Given the description of an element on the screen output the (x, y) to click on. 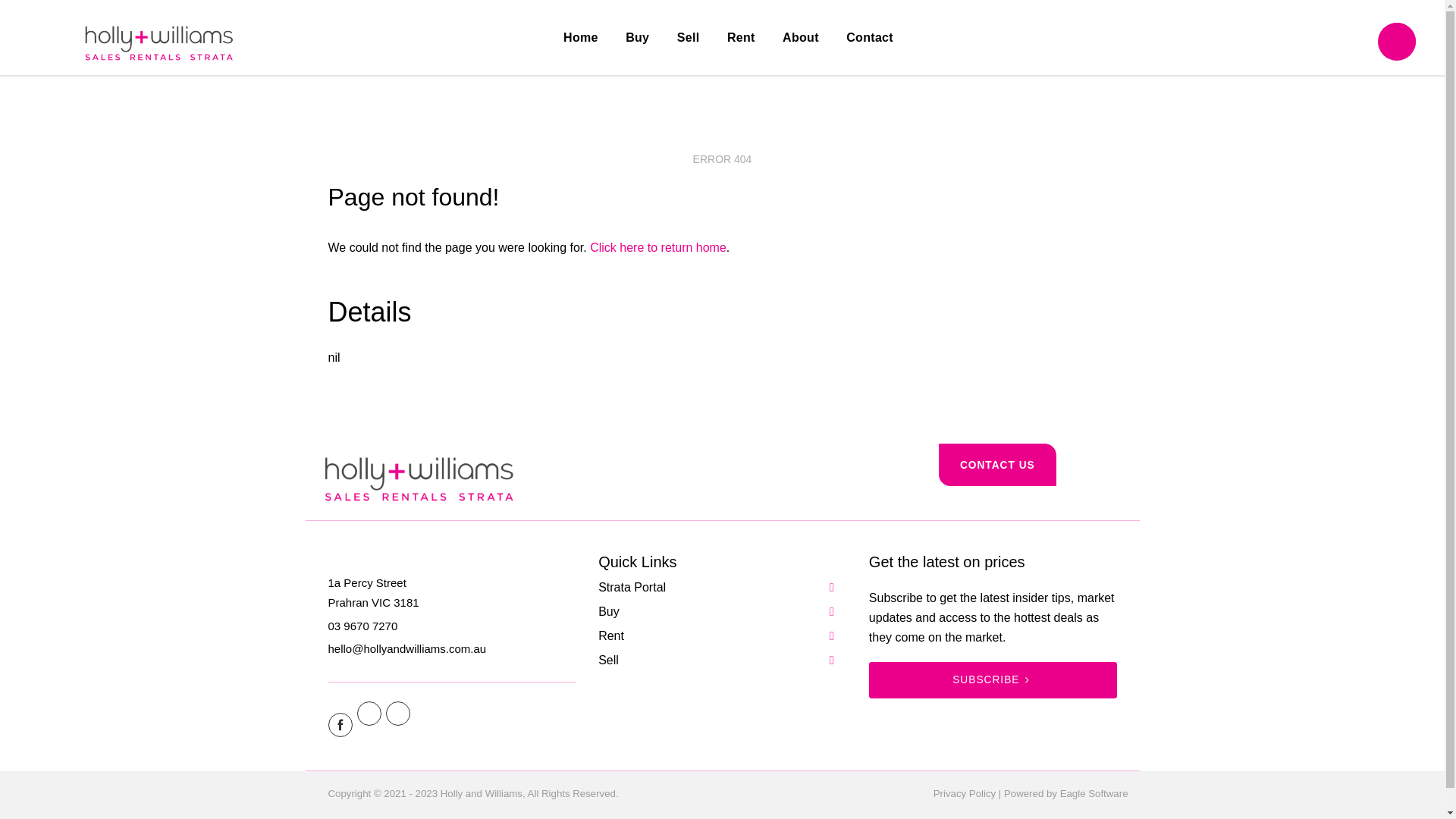
SUBSCRIBE Element type: text (993, 680)
Sell Element type: text (688, 37)
About Element type: text (800, 37)
Privacy Policy Element type: text (964, 793)
Eagle Software Element type: text (1094, 793)
Home Element type: text (580, 37)
CONTACT US Element type: text (997, 464)
03 9670 7270 Element type: text (362, 625)
Click here to return home Element type: text (657, 247)
Buy Element type: text (637, 37)
Rent Element type: text (741, 37)
Contact Element type: text (869, 37)
hello@hollyandwilliams.com.au Element type: text (406, 648)
